Given the description of an element on the screen output the (x, y) to click on. 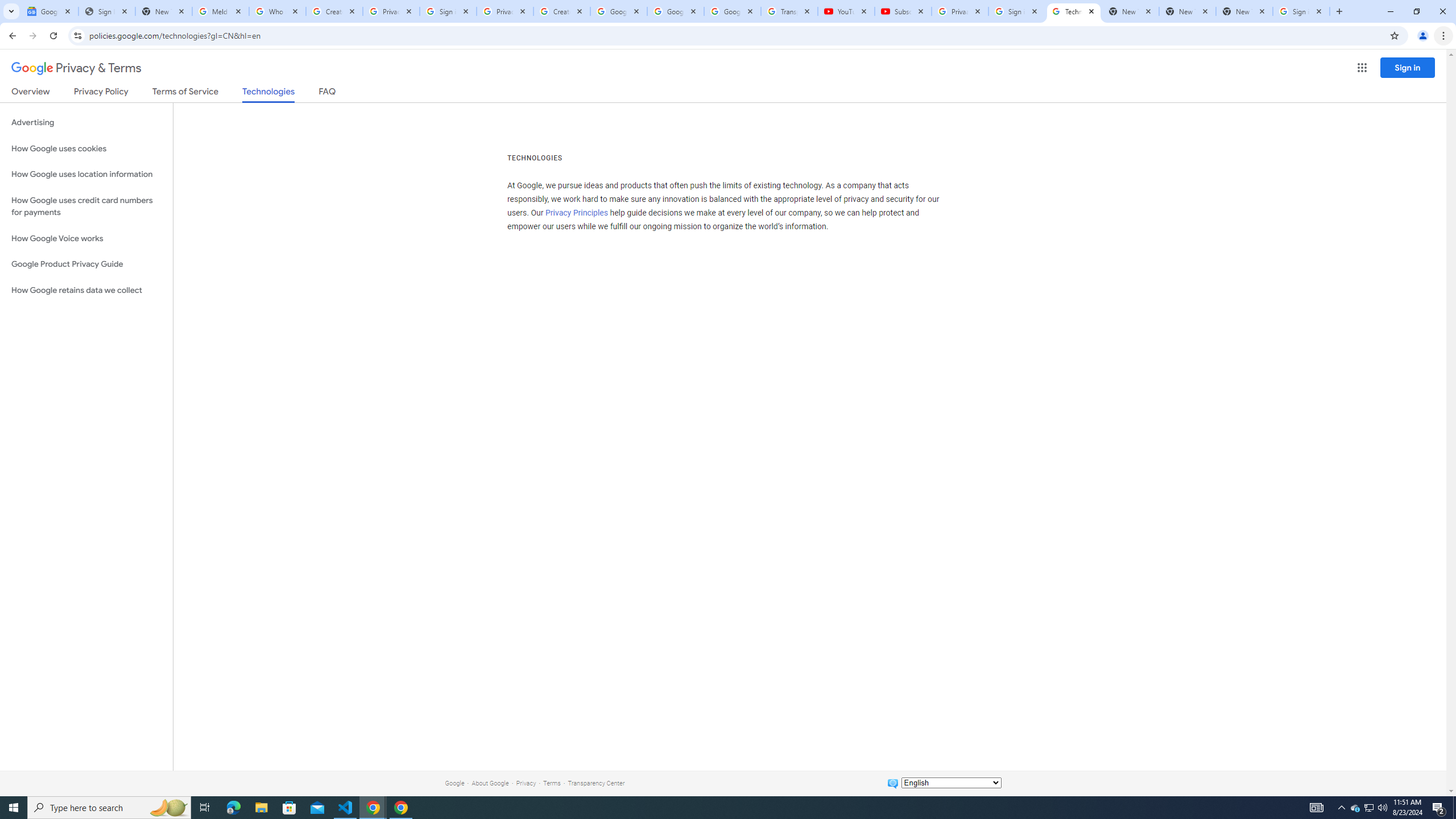
Transparency Center (595, 783)
Sign in - Google Accounts (447, 11)
Create your Google Account (334, 11)
Google Product Privacy Guide (86, 264)
